Given the description of an element on the screen output the (x, y) to click on. 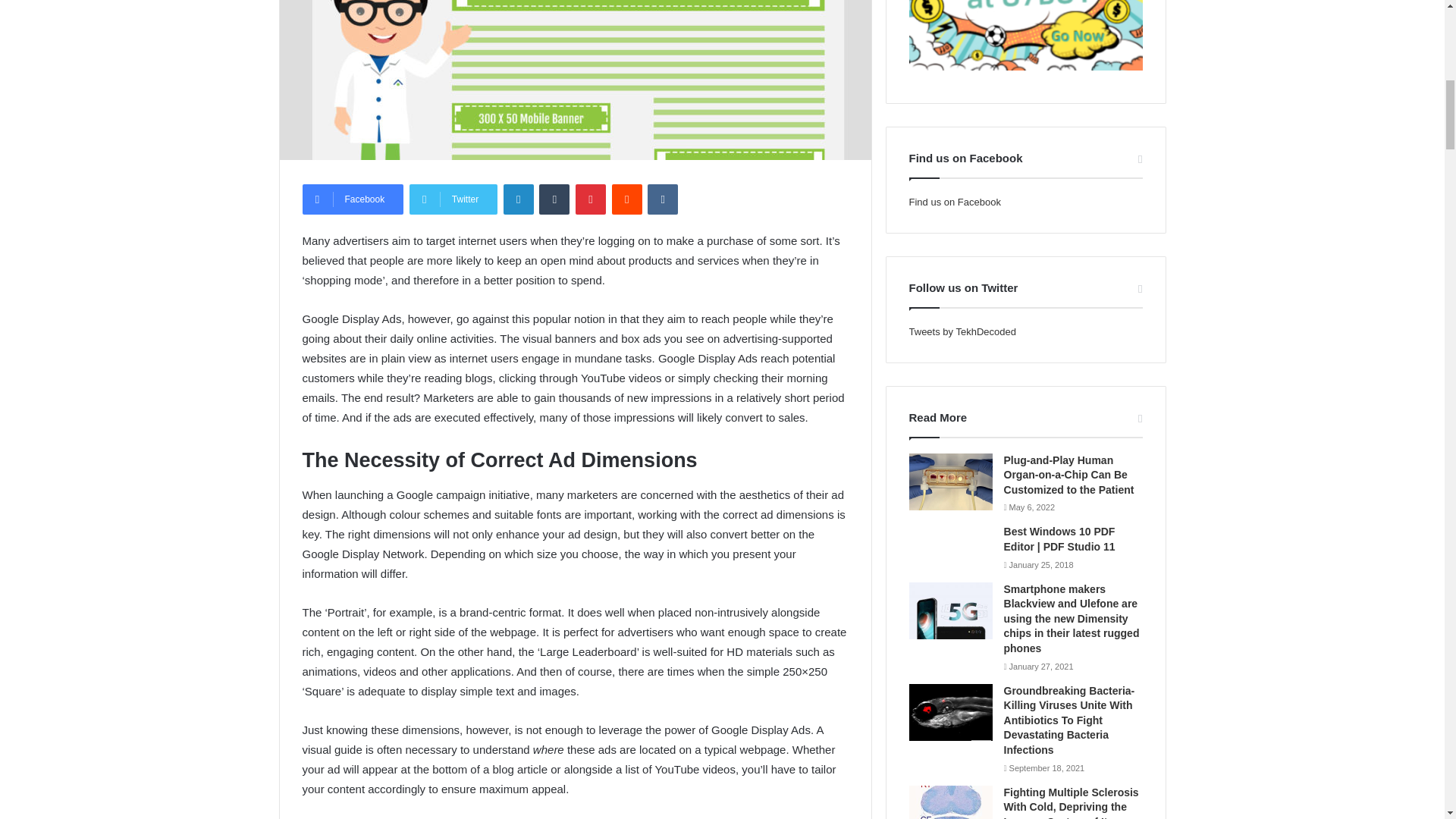
Reddit (626, 199)
VKontakte (662, 199)
LinkedIn (518, 199)
Pinterest (590, 199)
Facebook (352, 199)
Tumblr (553, 199)
Twitter (453, 199)
